Given the description of an element on the screen output the (x, y) to click on. 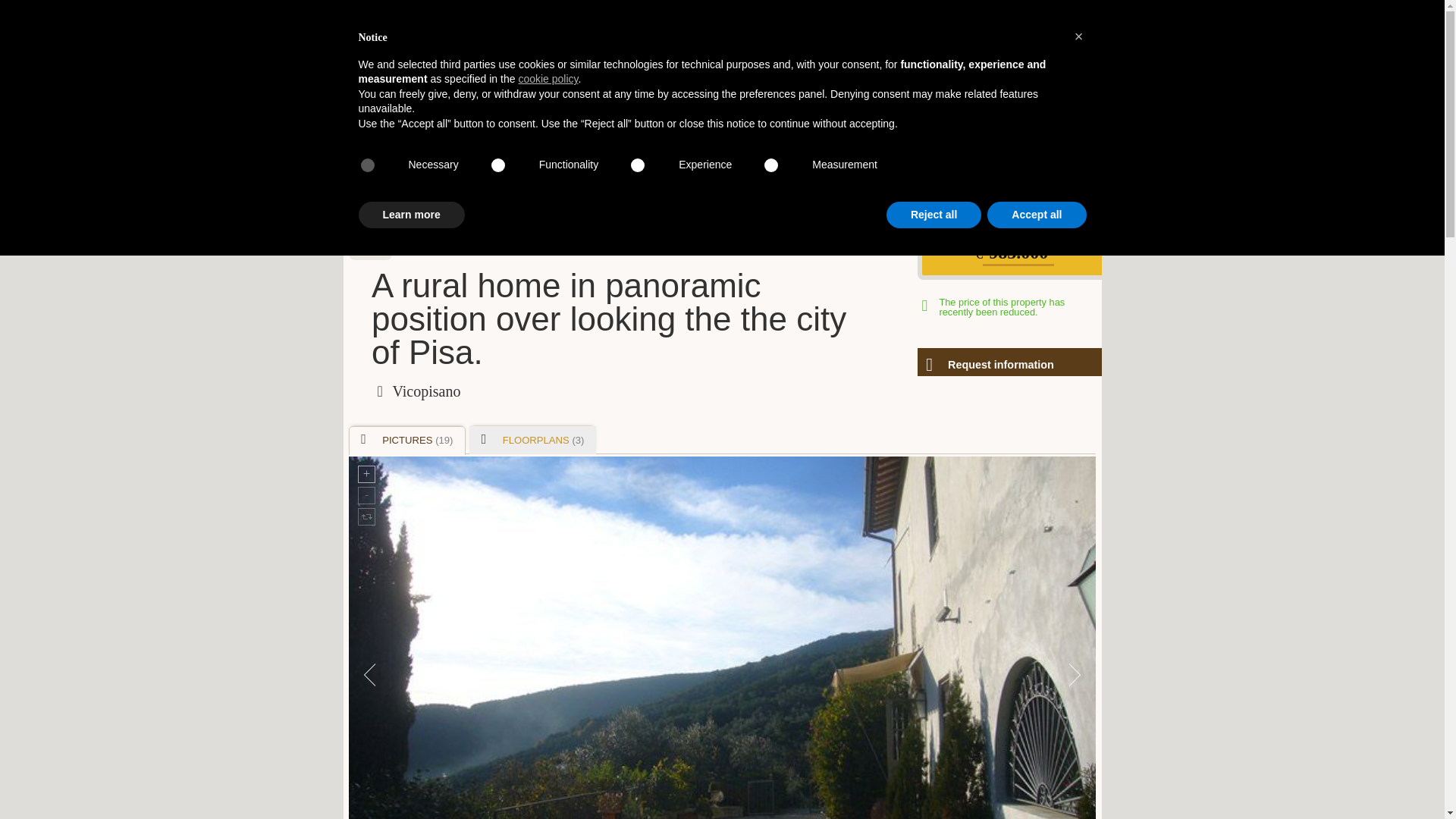
Properties in Tuscany (429, 177)
true (376, 165)
Ref. (370, 248)
false (507, 165)
Contact us (568, 177)
Request information (1009, 362)
false (779, 165)
cookie policy (548, 78)
HOUSES IN TUSCANY (401, 217)
false (646, 165)
Houses in Tuscany for sale (721, 104)
TUSCANY (575, 217)
HousesinTuscany.com (721, 43)
PROPERTIES (500, 217)
